Given the description of an element on the screen output the (x, y) to click on. 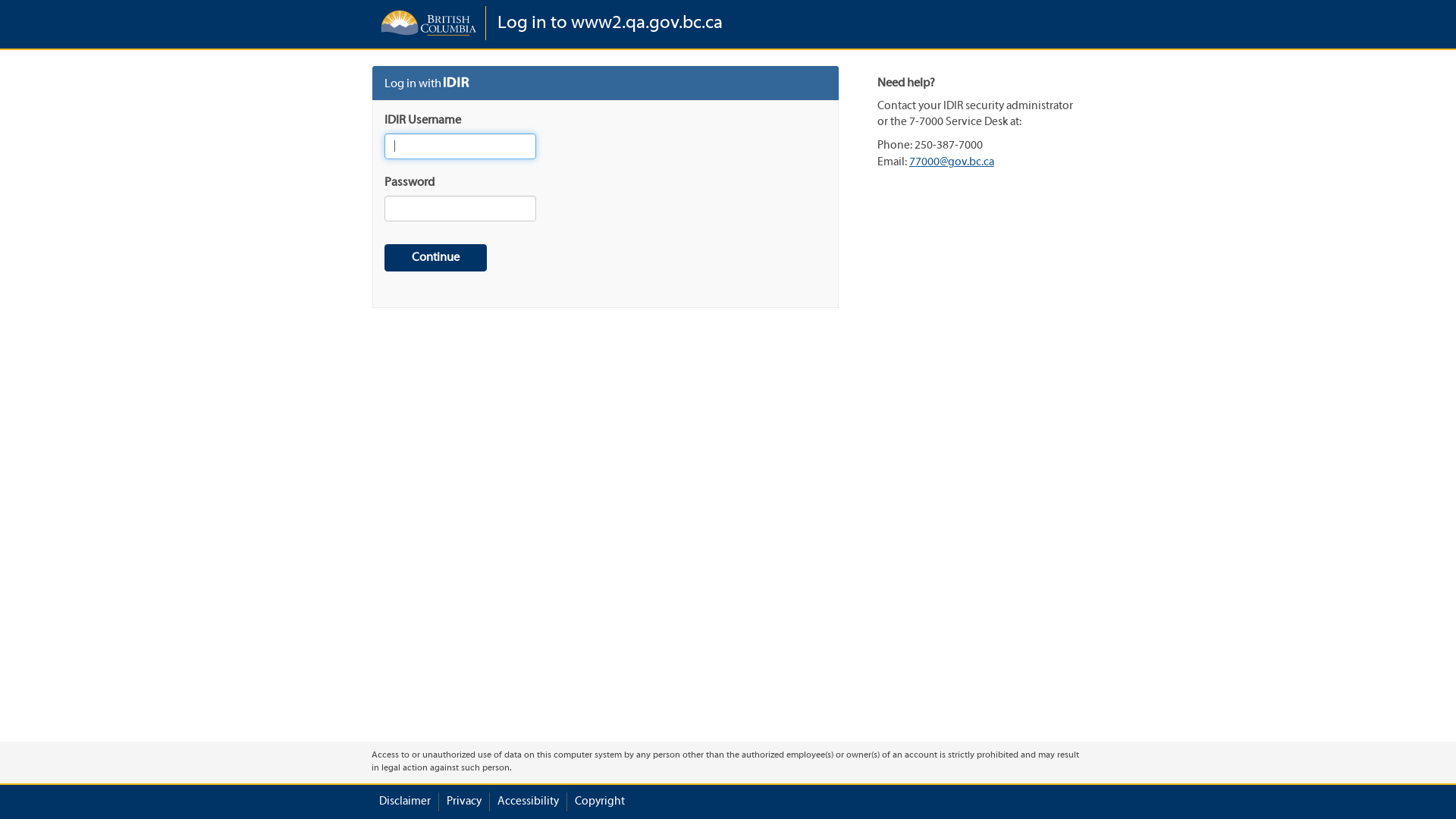
77000@gov.bc.ca Element type: text (951, 162)
Continue Element type: text (435, 258)
Disclaimer Element type: text (404, 801)
Accessibility Element type: text (527, 801)
Privacy Element type: text (463, 801)
Copyright Element type: text (599, 801)
